Given the description of an element on the screen output the (x, y) to click on. 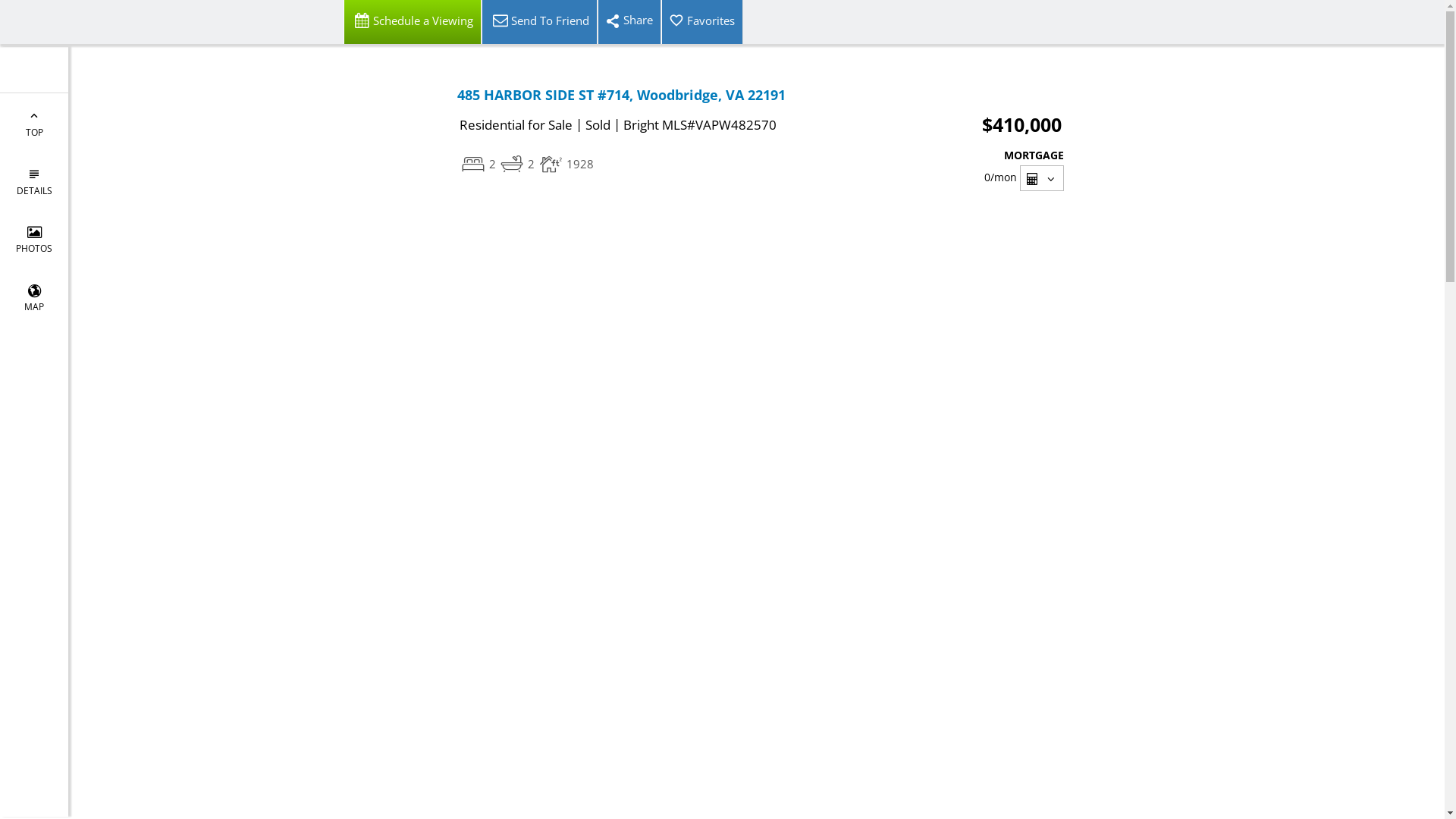
TOP Element type: text (34, 122)
Share Element type: hover (629, 21)
MAP Element type: text (34, 297)
Favorites Element type: text (702, 21)
DETAILS Element type: text (34, 180)
PHOTOS Element type: text (34, 239)
Send To Friend Element type: text (538, 21)
Schedule a Viewing Element type: text (411, 21)
